Given the description of an element on the screen output the (x, y) to click on. 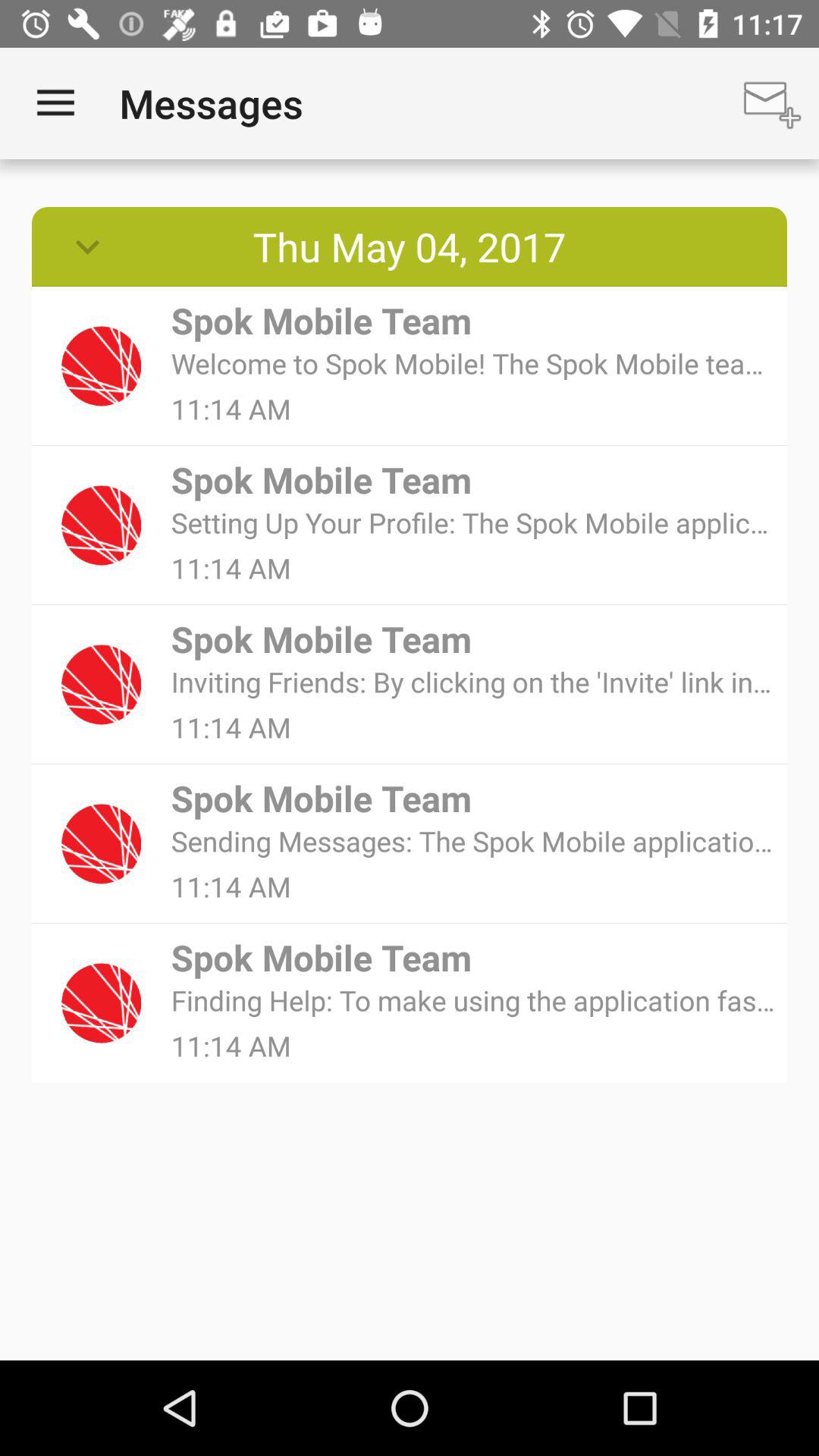
jump until the sending messages the icon (473, 840)
